Given the description of an element on the screen output the (x, y) to click on. 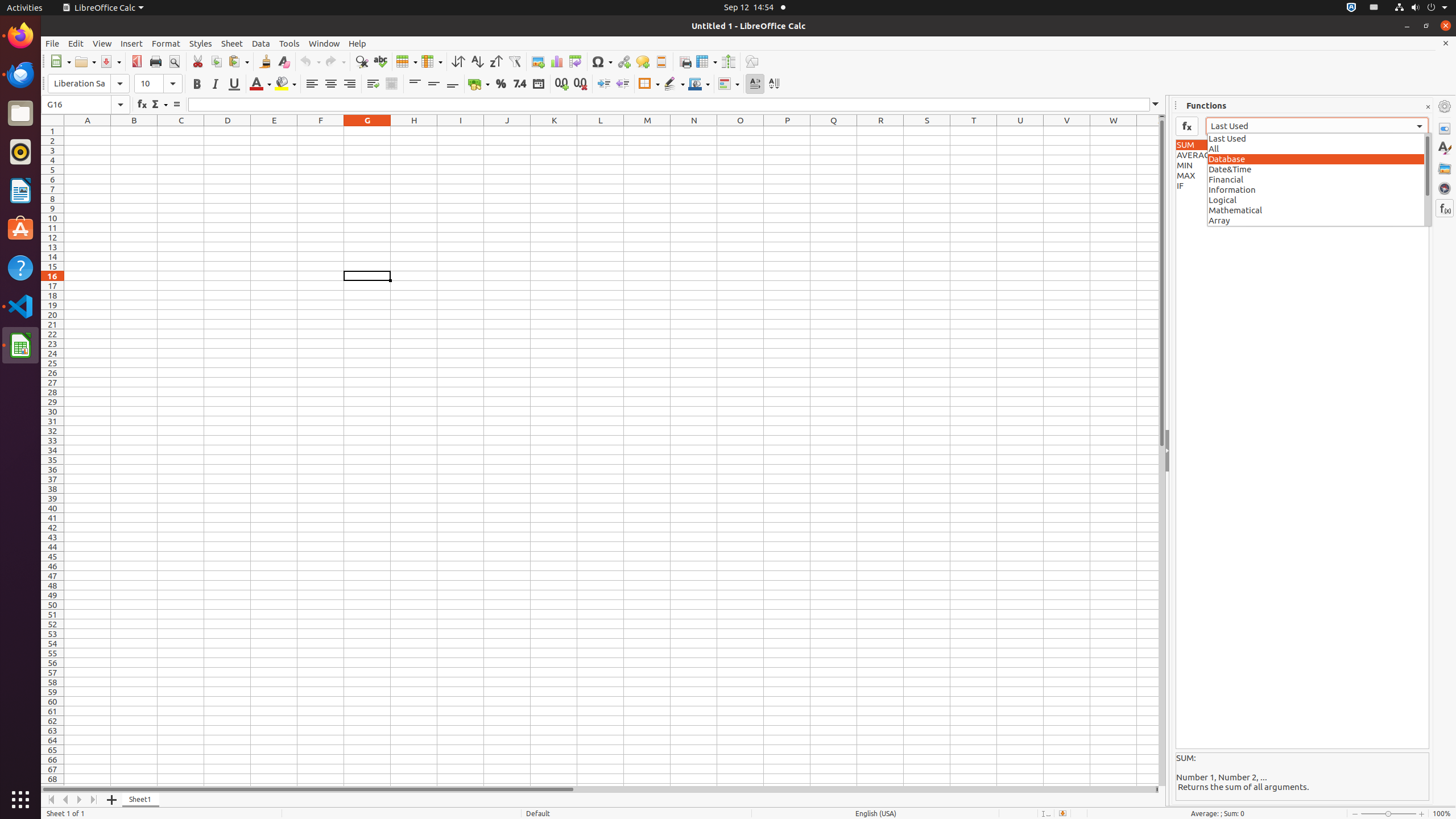
IF Element type: list-item (1302, 185)
Database Element type: list-item (1319, 158)
Gallery Element type: radio-button (1444, 168)
Draw Functions Element type: toggle-button (751, 61)
Merge and Center Cells Element type: push-button (391, 83)
